Given the description of an element on the screen output the (x, y) to click on. 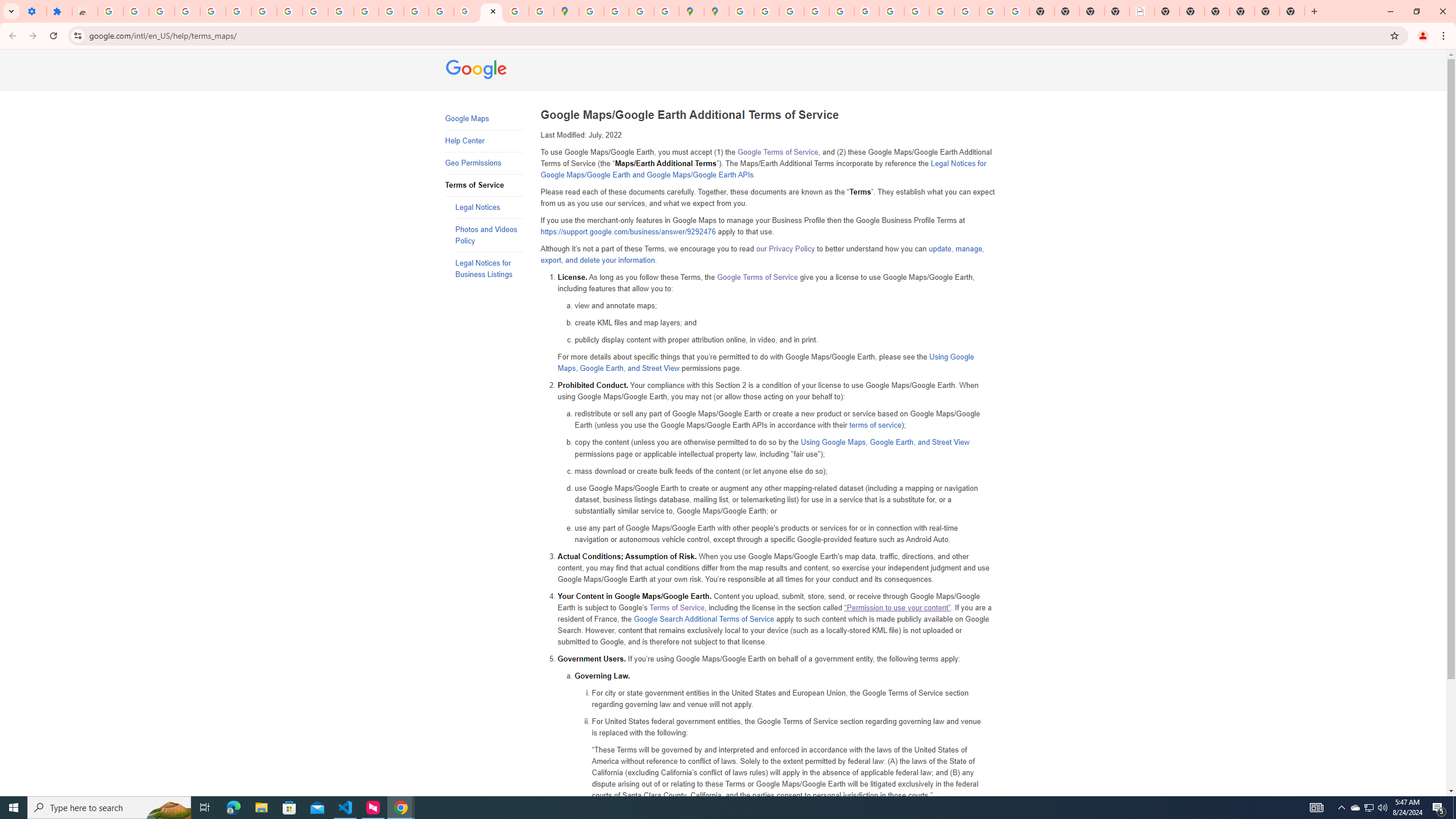
Privacy Help Center - Policies Help (791, 11)
Delete photos & videos - Computer - Google Photos Help (161, 11)
our Privacy Policy (785, 248)
Browse Chrome as a guest - Computer - Google Chrome Help (916, 11)
Settings - On startup (34, 11)
Help Center (484, 140)
Using Google Maps, Google Earth, and Street View (884, 442)
Terms of Service (676, 606)
Legal Notices for Business Listings (489, 268)
LAAD Defence & Security 2025 | BAE Systems (1141, 11)
